Given the description of an element on the screen output the (x, y) to click on. 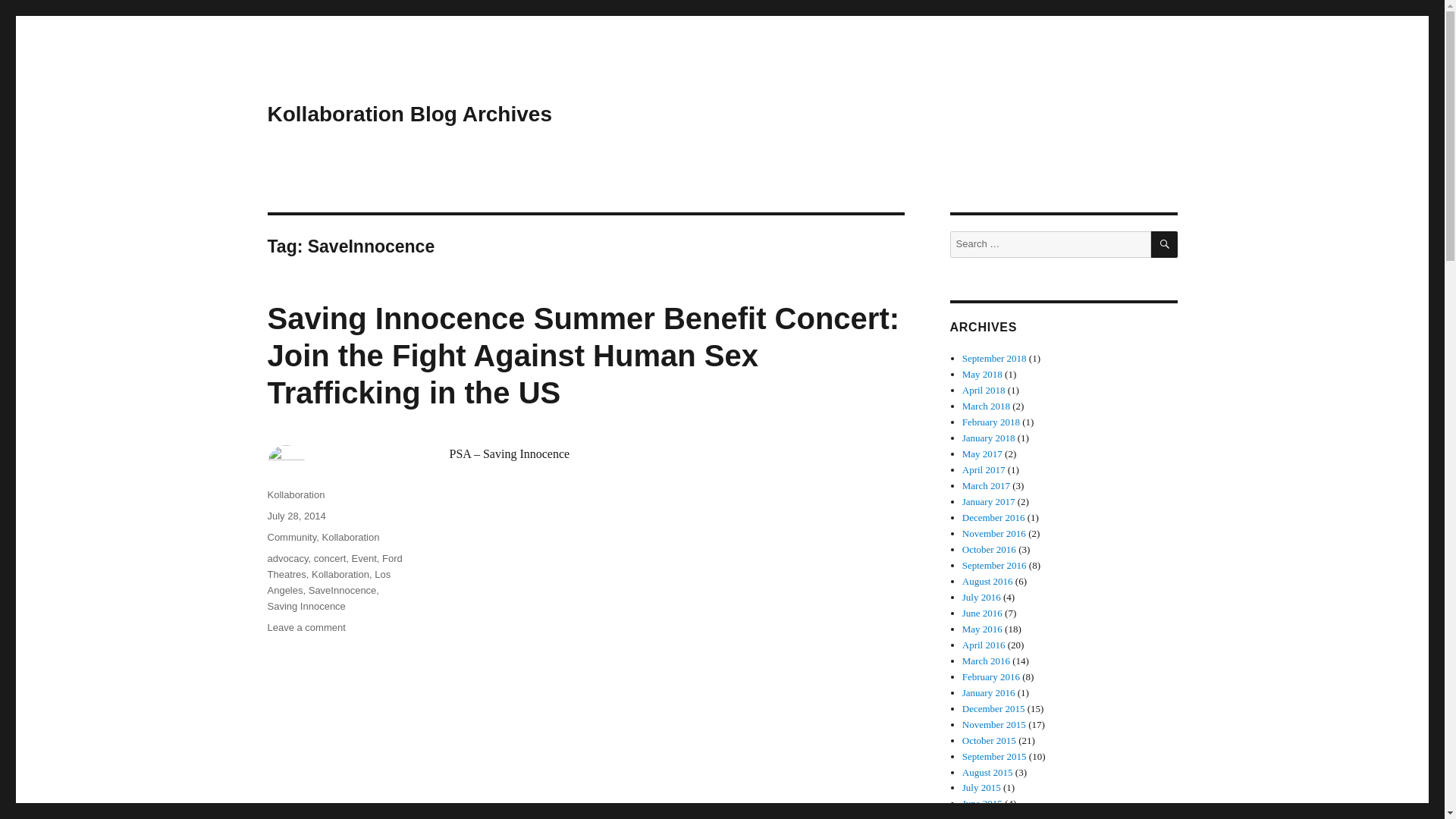
March 2018 (986, 405)
December 2016 (993, 517)
May 2018 (982, 374)
SaveInnocence (342, 590)
March 2017 (986, 485)
November 2016 (994, 532)
Kollaboration (295, 494)
Community (290, 536)
February 2018 (991, 421)
